Given the description of an element on the screen output the (x, y) to click on. 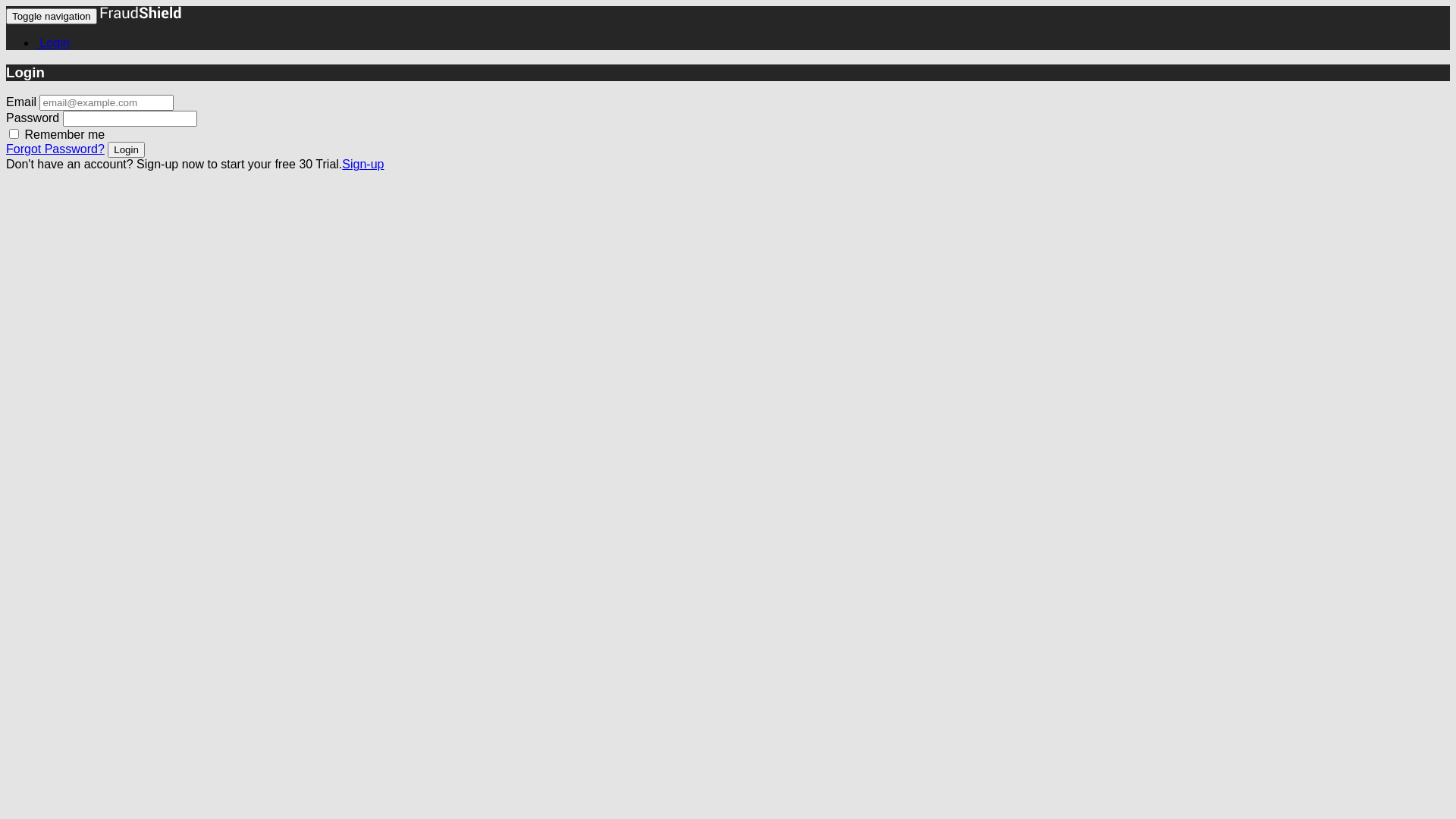
Toggle navigation Element type: text (51, 16)
Forgot Password? Element type: text (55, 148)
Login Element type: text (125, 149)
Sign-up Element type: text (362, 163)
 Login Element type: text (52, 42)
